Given the description of an element on the screen output the (x, y) to click on. 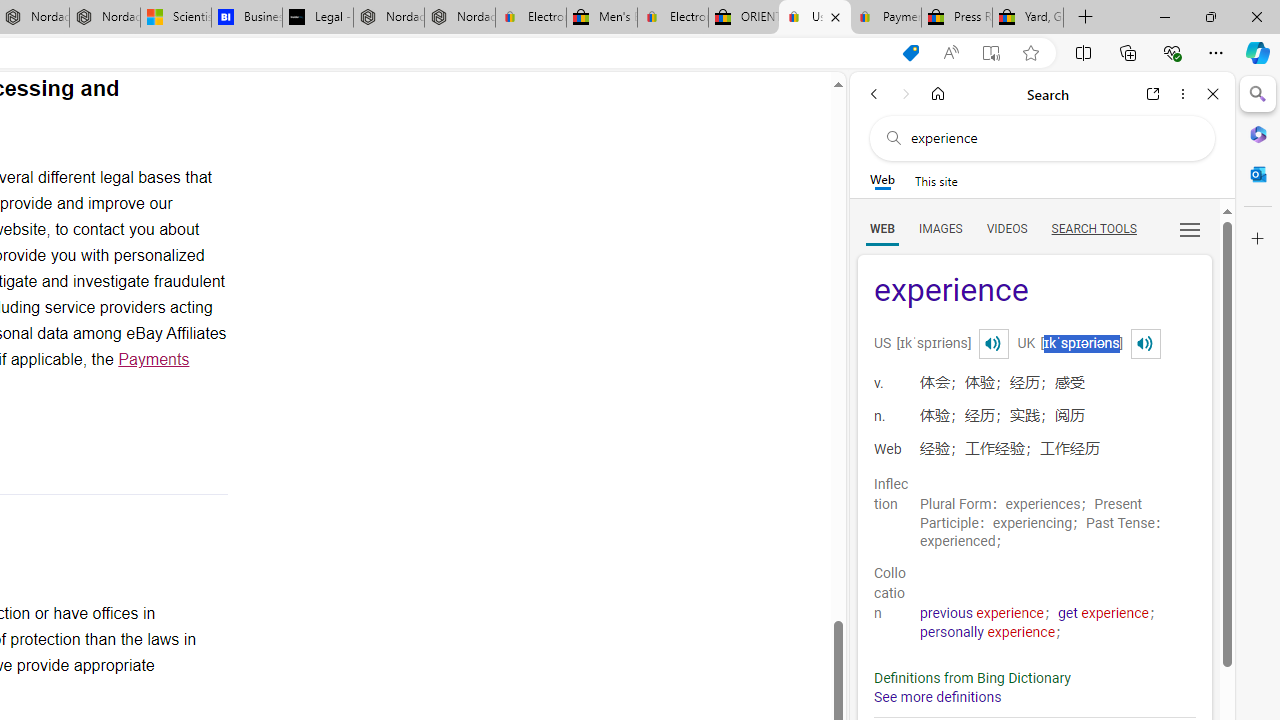
get experience (1103, 613)
